Given the description of an element on the screen output the (x, y) to click on. 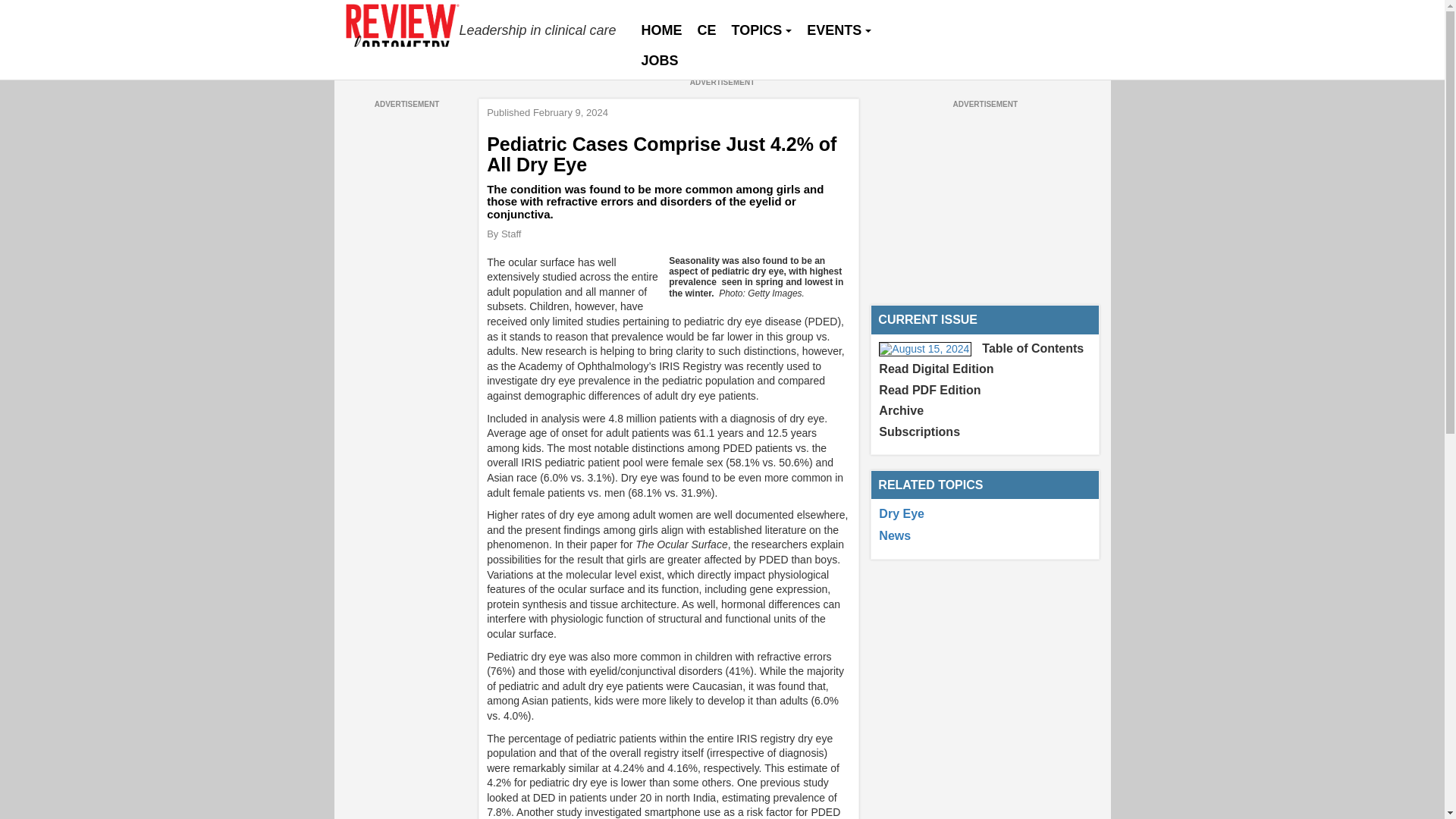
JOBS (659, 60)
Leadership in clinical care (482, 30)
EVENTS (839, 30)
Table of Contents (1032, 348)
TOPICS (761, 30)
HOME (661, 30)
CE (706, 30)
